Given the description of an element on the screen output the (x, y) to click on. 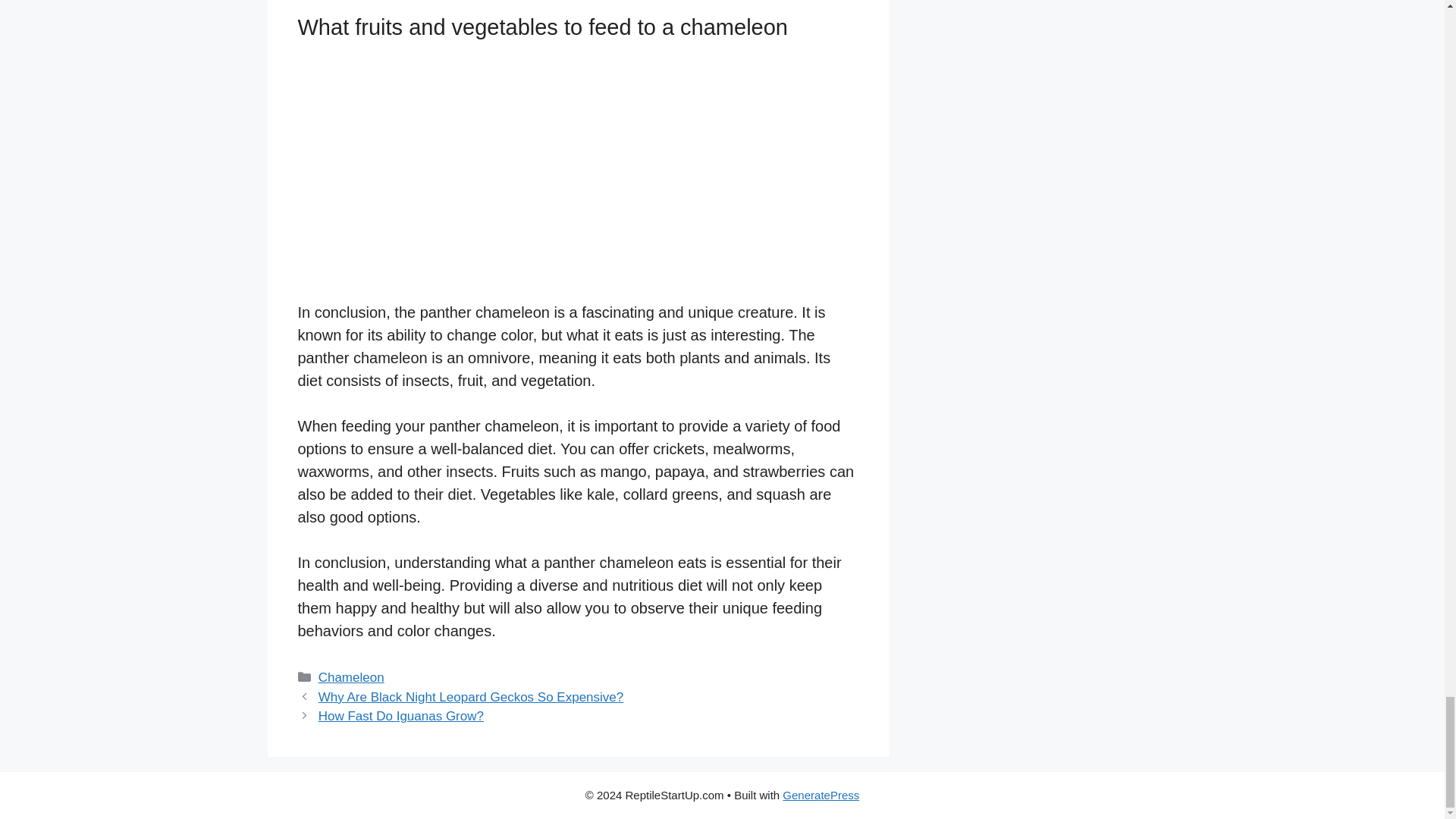
Chameleon (351, 677)
Why Are Black Night Leopard Geckos So Expensive? (471, 697)
GeneratePress (821, 794)
What fruits and vegetables to feed to a chameleon (509, 175)
How Fast Do Iguanas Grow? (400, 716)
